Given the description of an element on the screen output the (x, y) to click on. 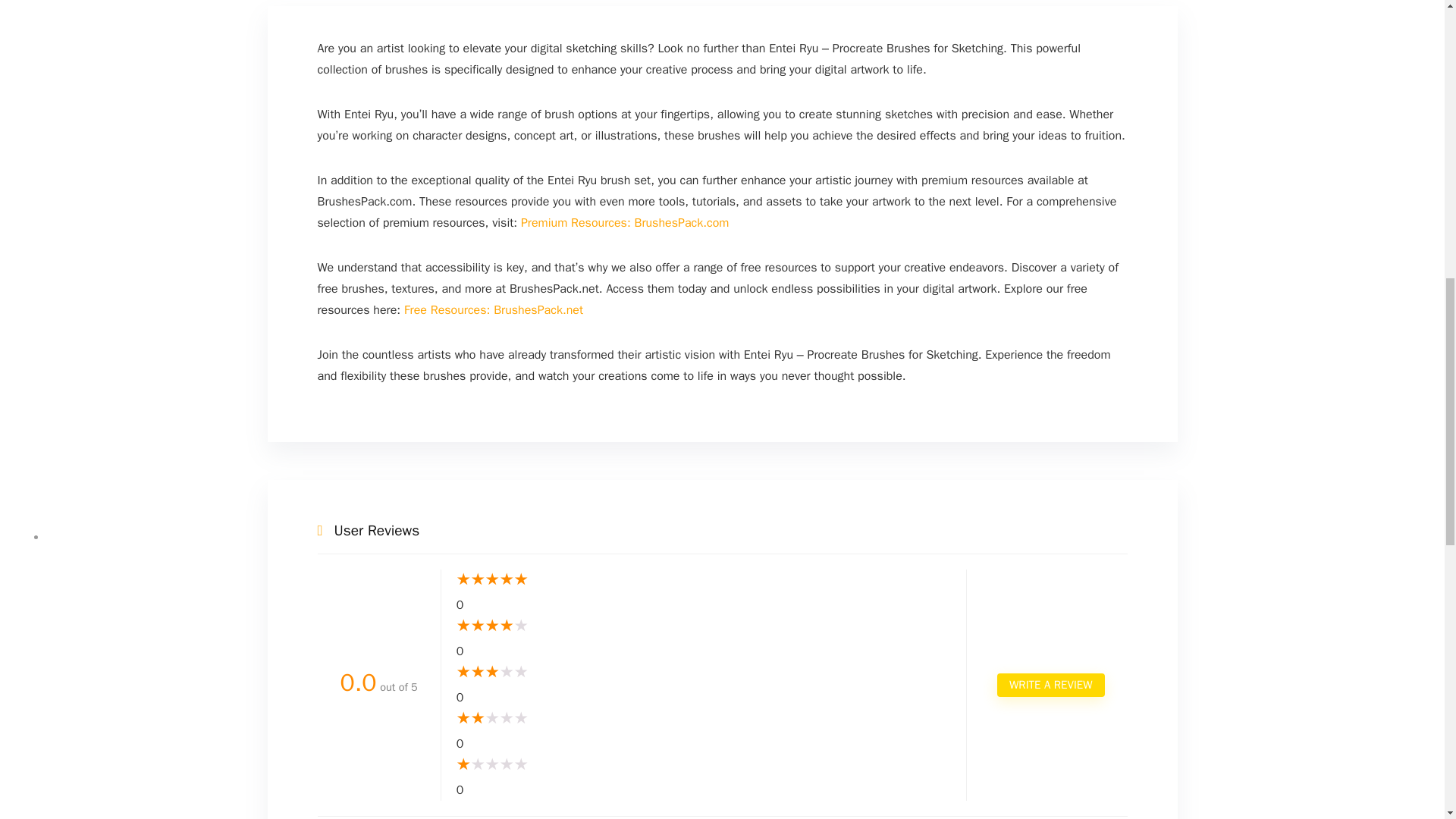
WRITE A REVIEW (1050, 684)
Rated 3 out of 5 (703, 672)
Rated 5 out of 5 (703, 579)
Rated 2 out of 5 (703, 718)
Rated 4 out of 5 (703, 626)
Rated 1 out of 5 (703, 764)
